Given the description of an element on the screen output the (x, y) to click on. 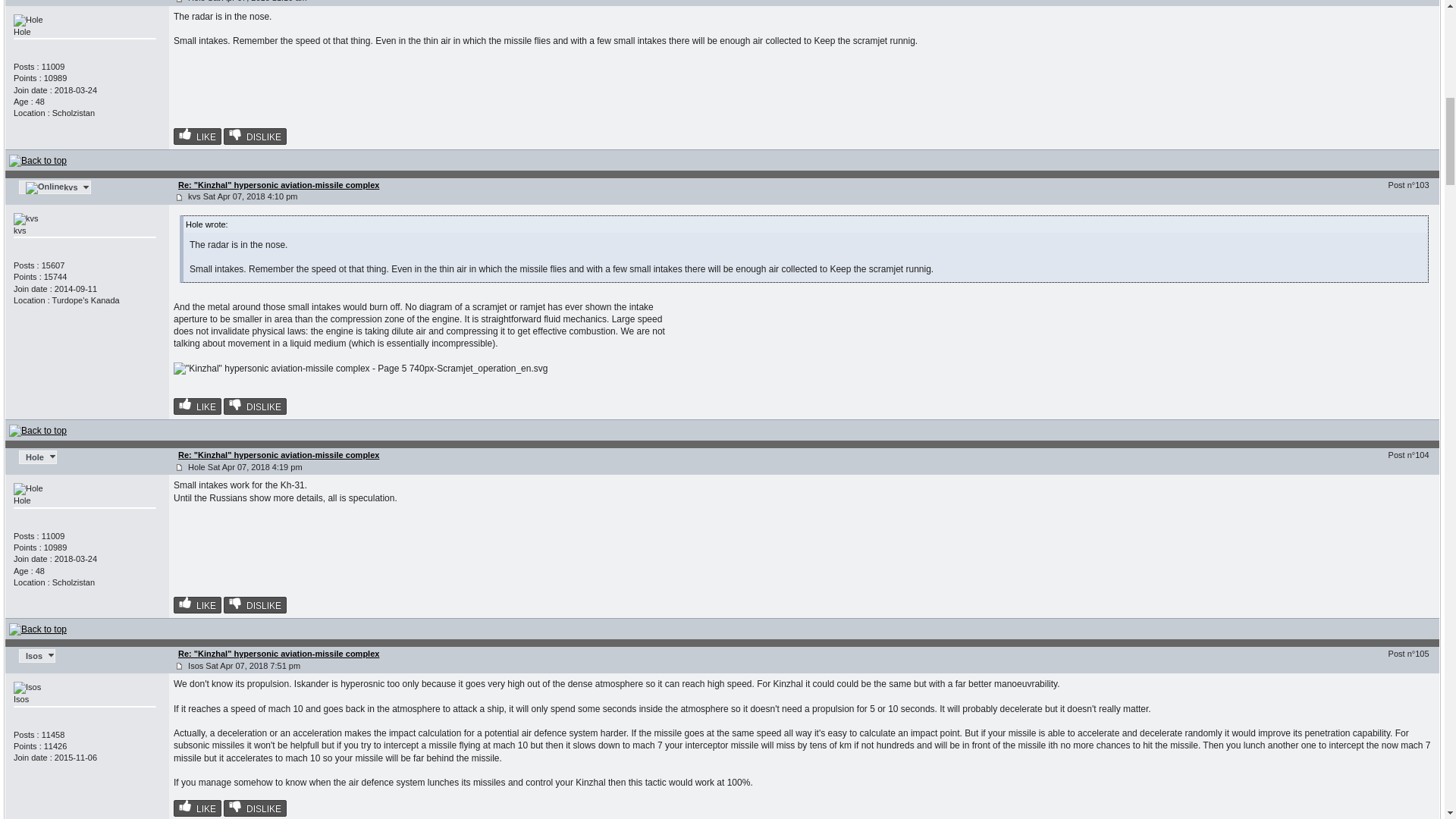
Re: "Kinzhal" hypersonic aviation-missile complex (277, 184)
LIKE (197, 406)
Post (178, 467)
LIKE (197, 135)
kvs (54, 187)
Online (45, 187)
LIKE (197, 605)
Post (178, 665)
Post (178, 197)
DISLIKE (255, 406)
